Given the description of an element on the screen output the (x, y) to click on. 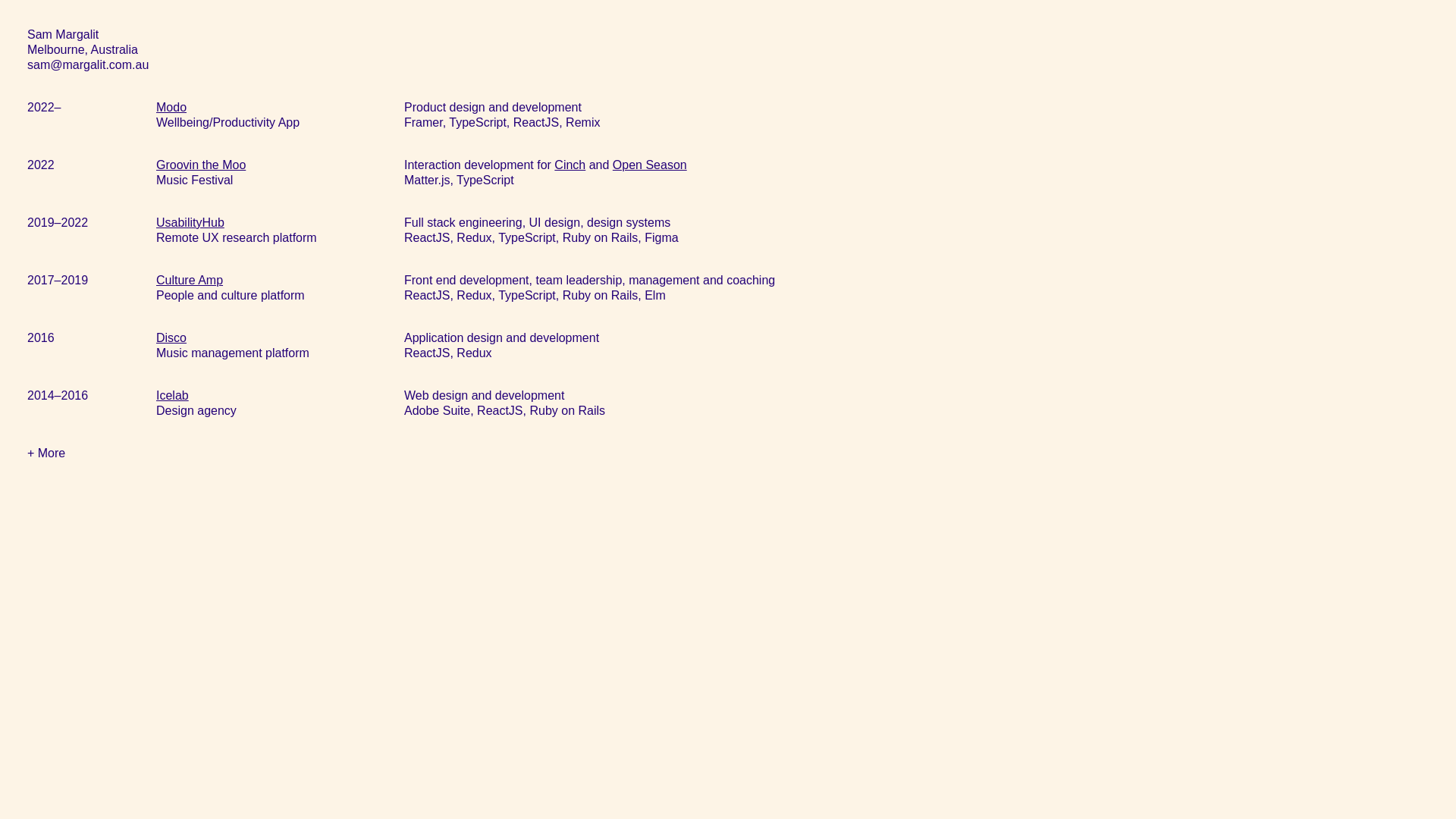
+ More Element type: text (46, 453)
UsabilityHub Element type: text (190, 222)
Modo Element type: text (171, 106)
Open Season Element type: text (649, 164)
Cinch Element type: text (569, 164)
Groovin the Moo Element type: text (200, 164)
Icelab Element type: text (172, 395)
Disco Element type: text (171, 337)
Culture Amp Element type: text (189, 279)
